Given the description of an element on the screen output the (x, y) to click on. 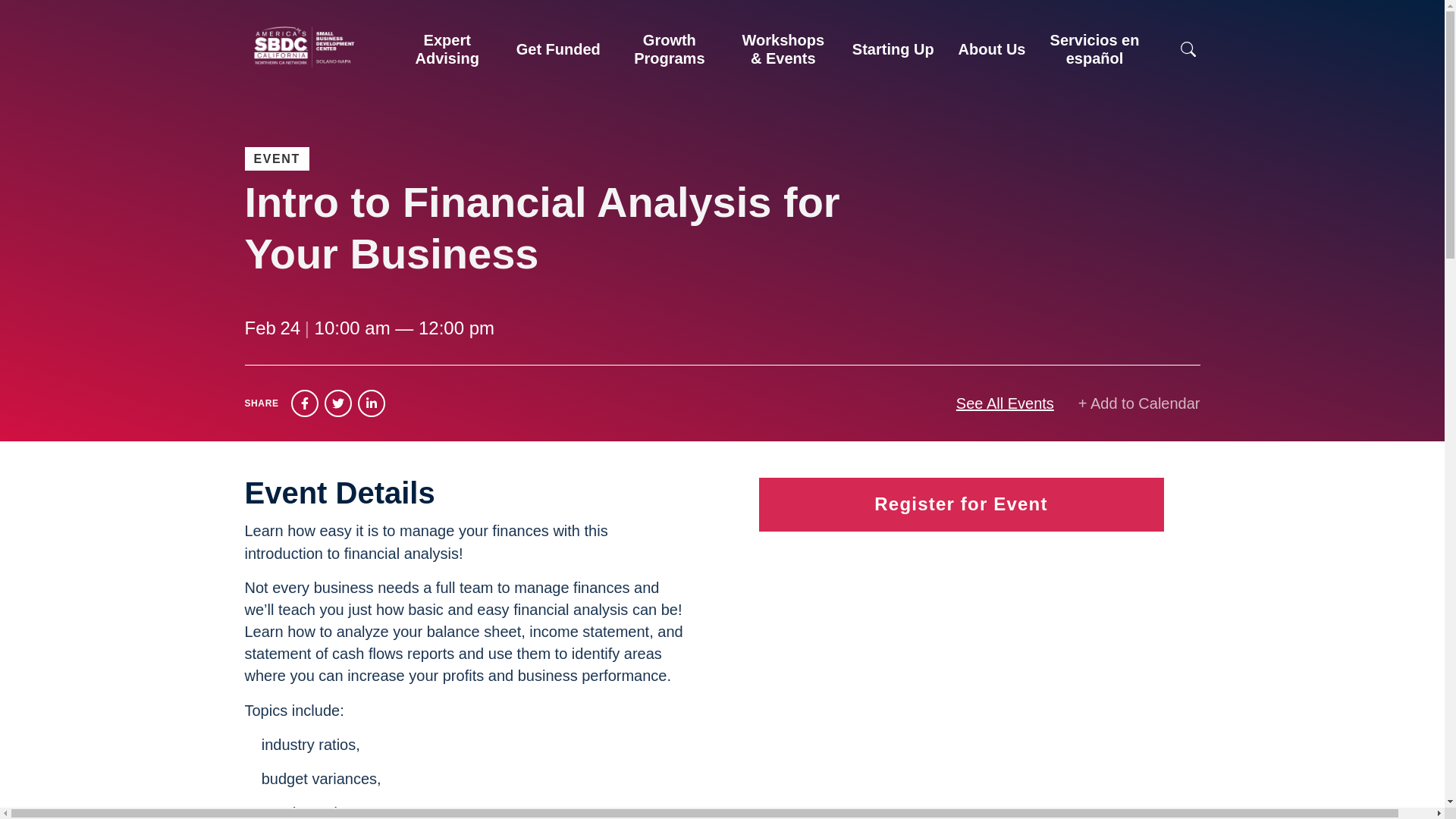
Expert Advising (446, 49)
Get Funded (557, 49)
Growth Programs (669, 49)
